Given the description of an element on the screen output the (x, y) to click on. 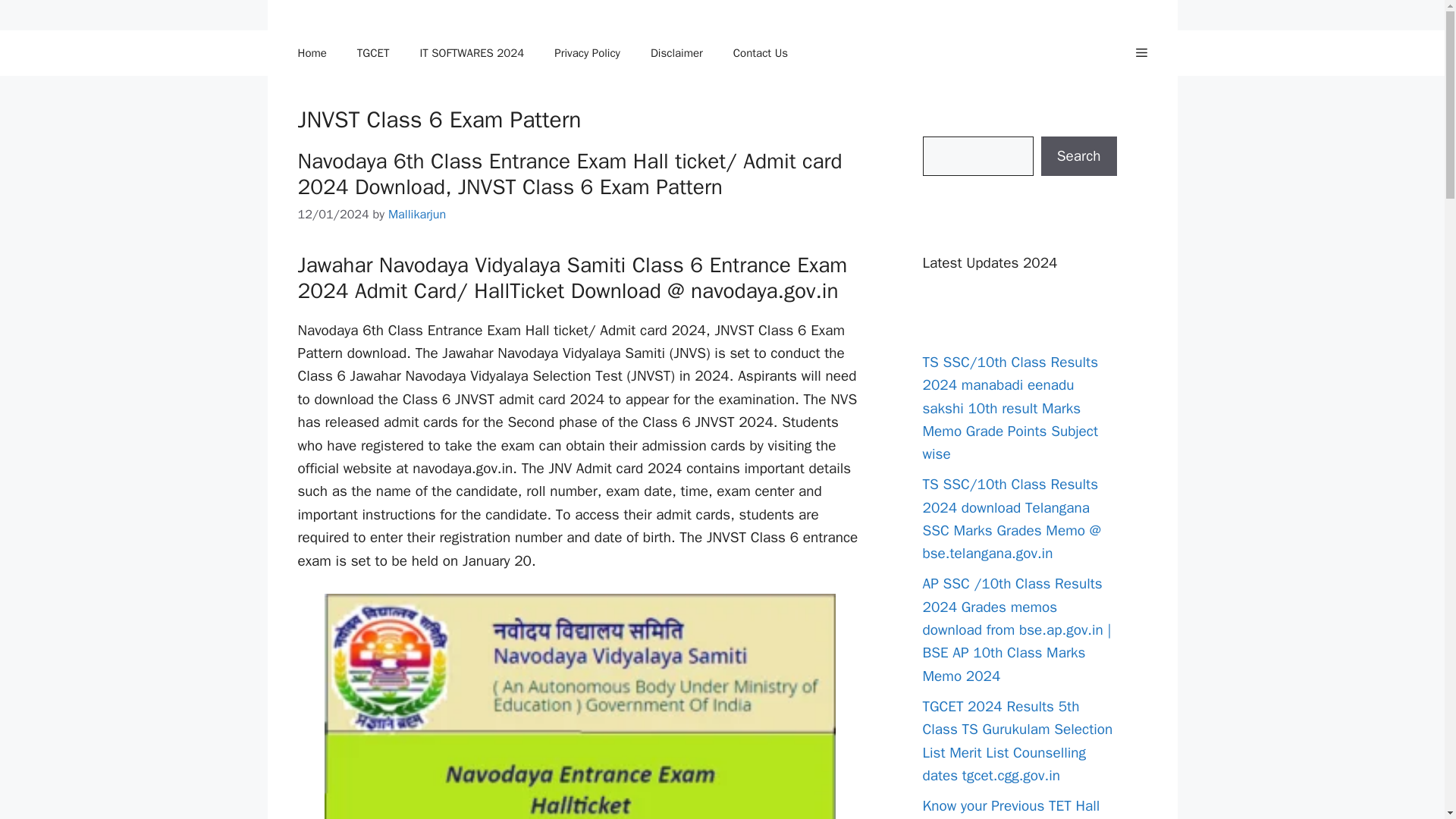
Home (311, 53)
Privacy Policy (586, 53)
View all posts by Mallikarjun (416, 213)
TGCET (373, 53)
Mallikarjun (416, 213)
Search (1078, 156)
Contact Us (760, 53)
IT SOFTWARES 2024 (471, 53)
Disclaimer (675, 53)
